Given the description of an element on the screen output the (x, y) to click on. 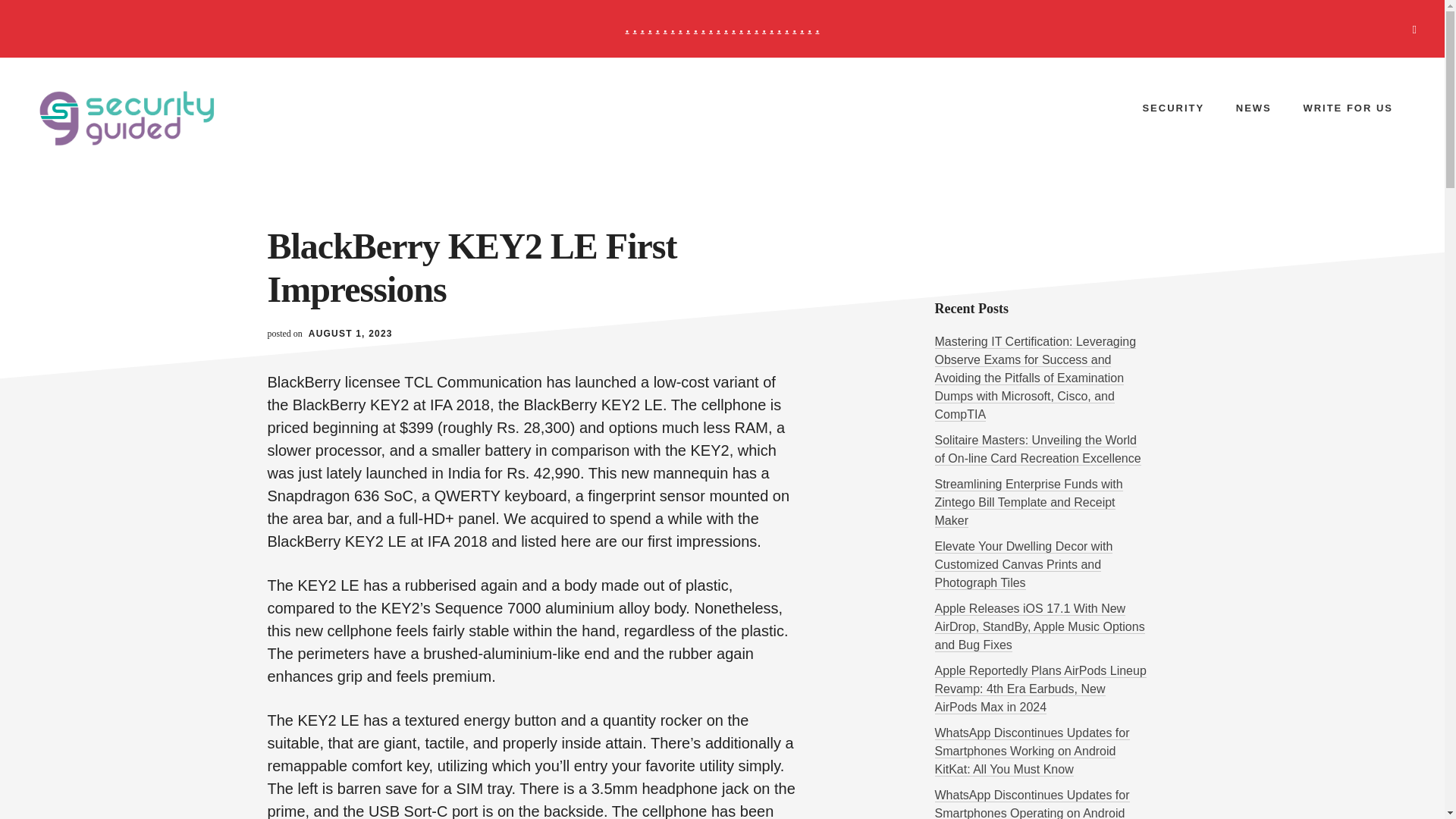
NEWS (1254, 107)
SECURITY GUIDED (150, 117)
SECURITY (1172, 107)
WRITE FOR US (1347, 107)
